Given the description of an element on the screen output the (x, y) to click on. 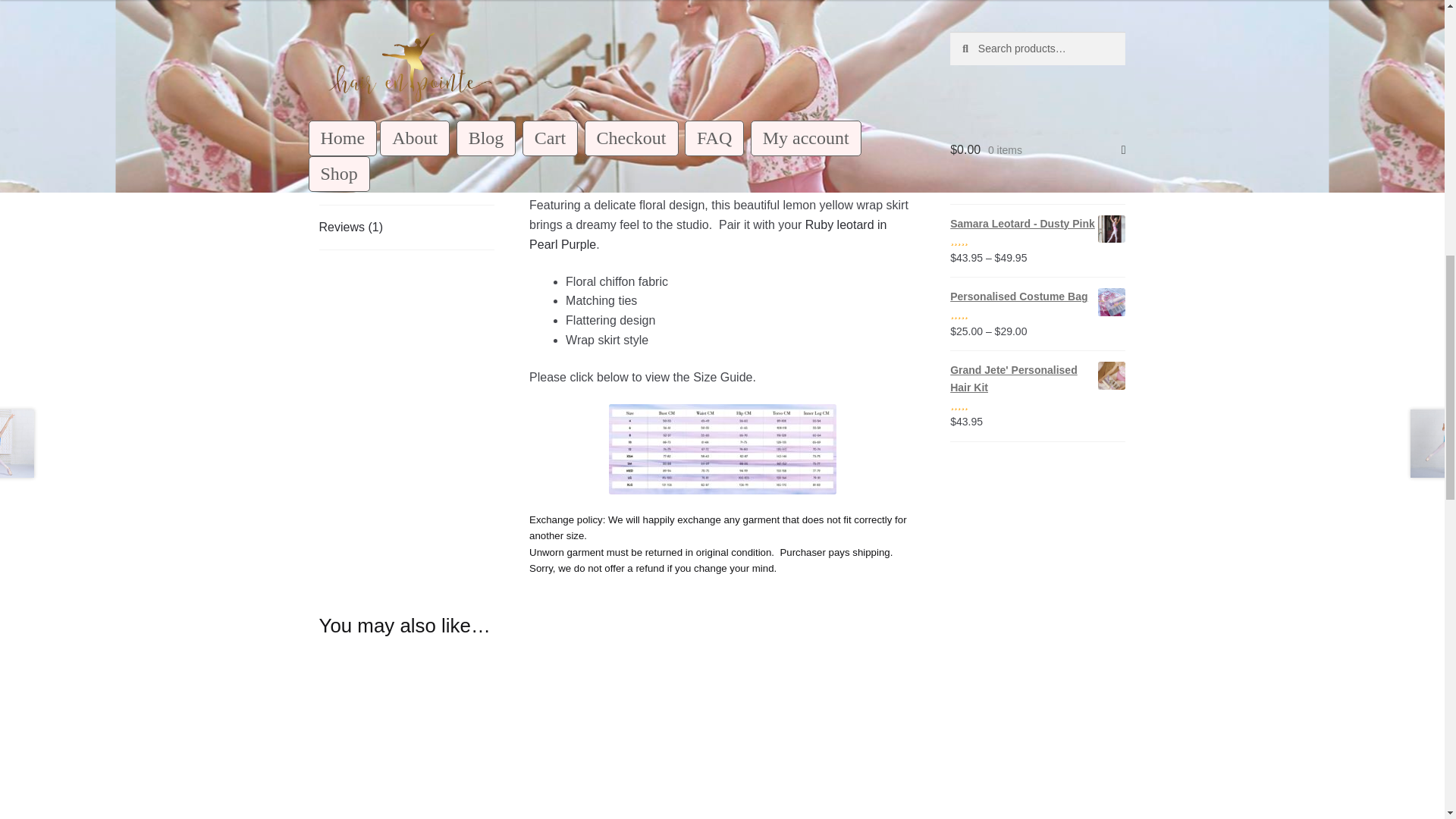
Description (406, 137)
Additional information (406, 182)
Ruby leotard in Pearl Purple (707, 234)
Dancewear (675, 42)
